Given the description of an element on the screen output the (x, y) to click on. 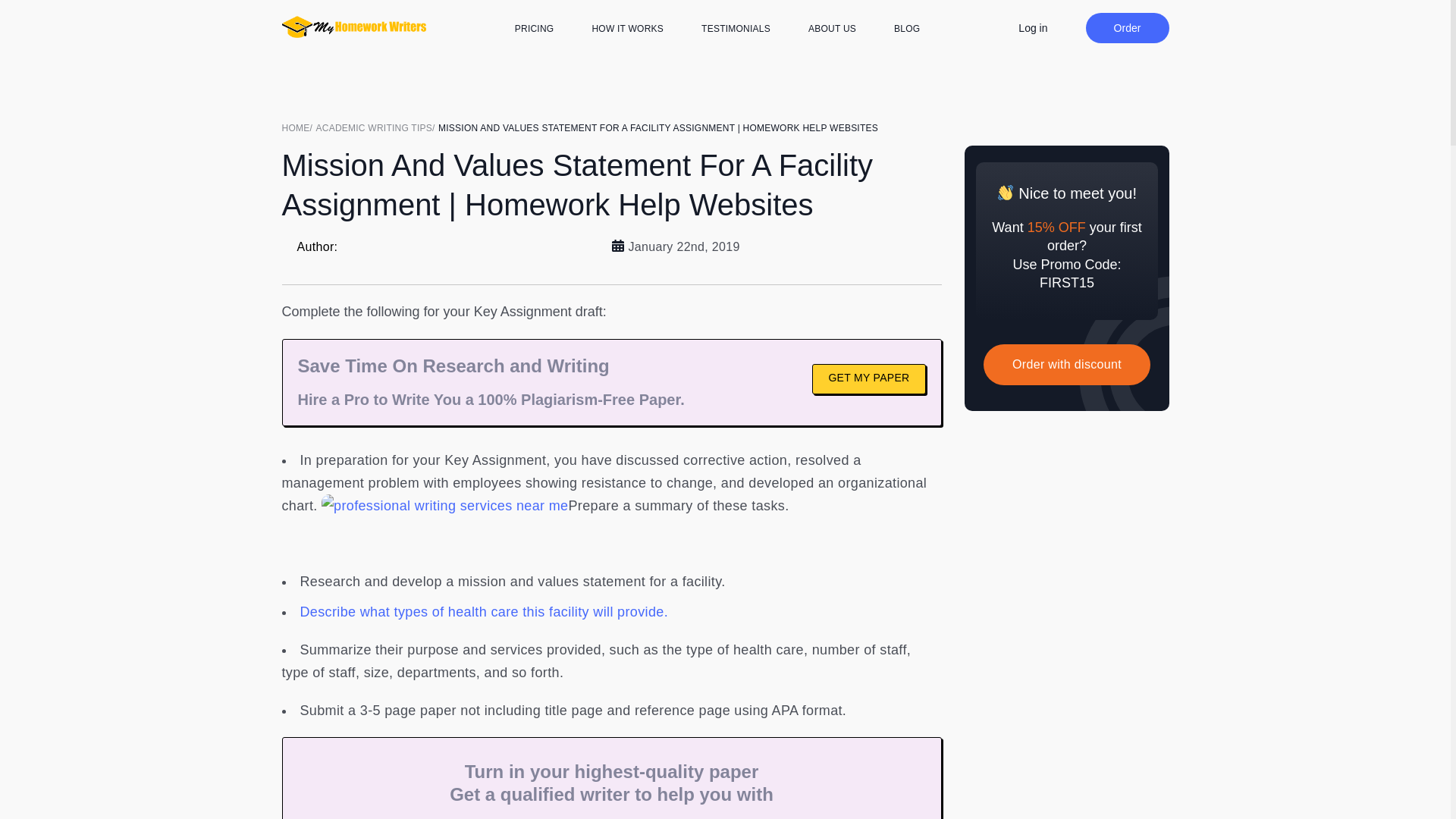
Go to Homework Writing Services (298, 126)
ABOUT US (832, 28)
Order (1127, 28)
PRICING (534, 28)
TESTIMONIALS (735, 28)
GET MY PAPER (868, 378)
BLOG (906, 28)
HOME (298, 126)
HOW IT WORKS (627, 28)
Log in (1031, 27)
Order with discount (1066, 363)
